Given the description of an element on the screen output the (x, y) to click on. 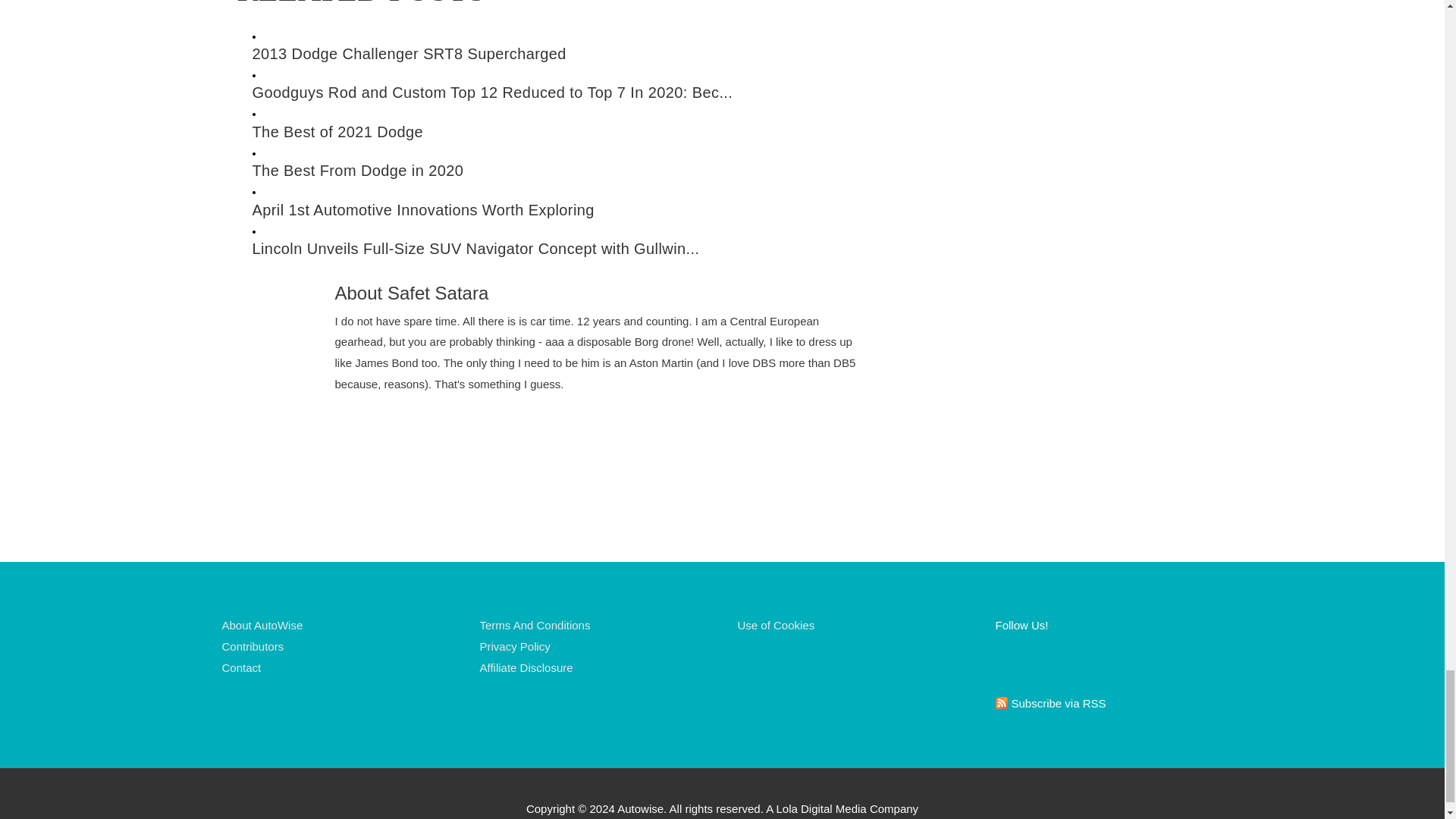
The Best of 2021 Dodge (562, 131)
The Best From Dodge in 2020 (562, 170)
April 1st Automotive Innovations Worth Exploring (562, 210)
2013 Dodge Challenger SRT8 Supercharged (562, 54)
